Given the description of an element on the screen output the (x, y) to click on. 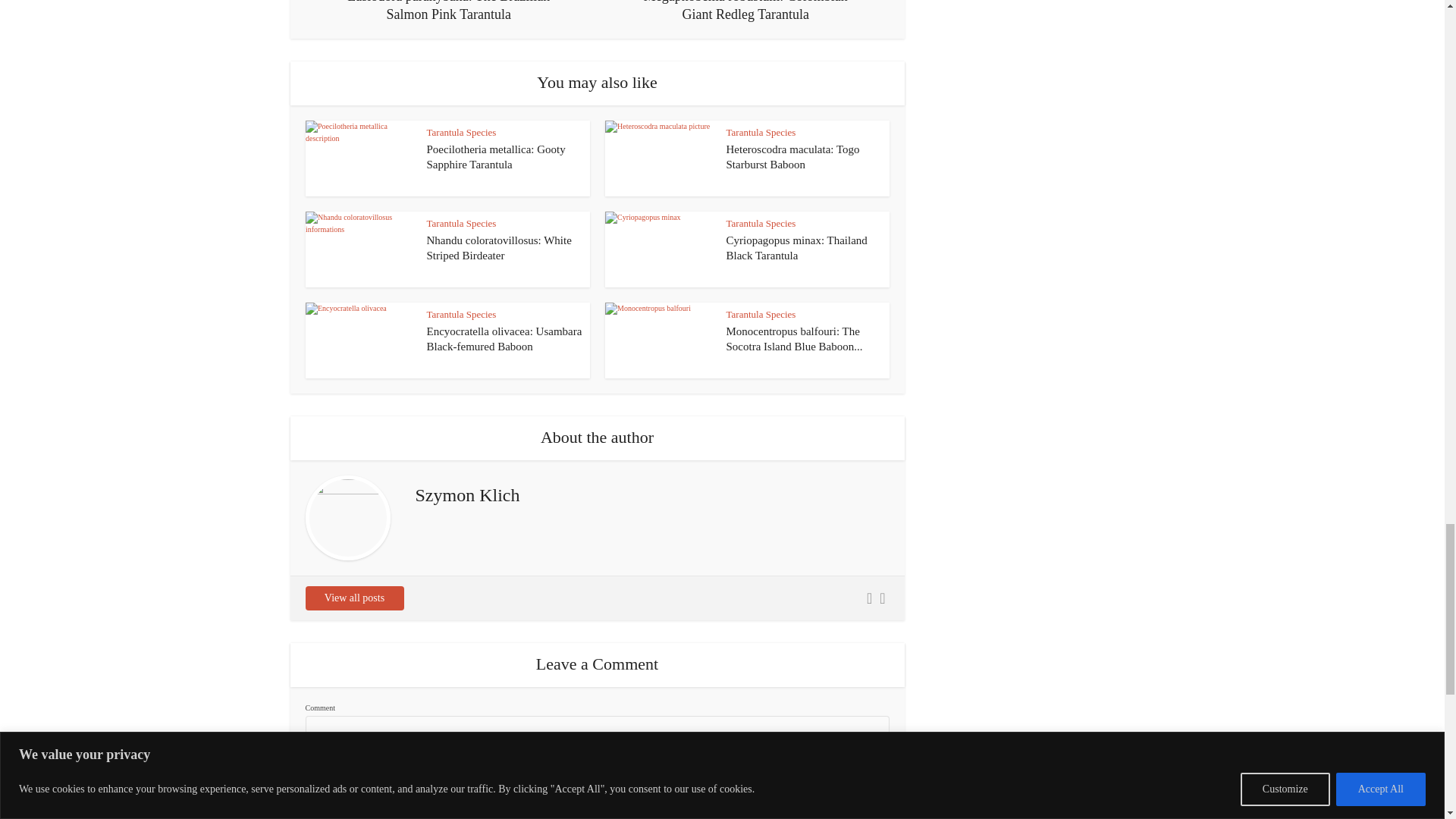
Cyriopagopus minax: Thailand Black Tarantula (796, 247)
Encyocratella olivacea: Usambara Black-femured Baboon (503, 338)
Poecilotheria metallica: Gooty Sapphire Tarantula (495, 156)
Nhandu coloratovillosus: White Striped Birdeater (498, 247)
Heteroscodra maculata: Togo Starburst Baboon (793, 156)
